Given the description of an element on the screen output the (x, y) to click on. 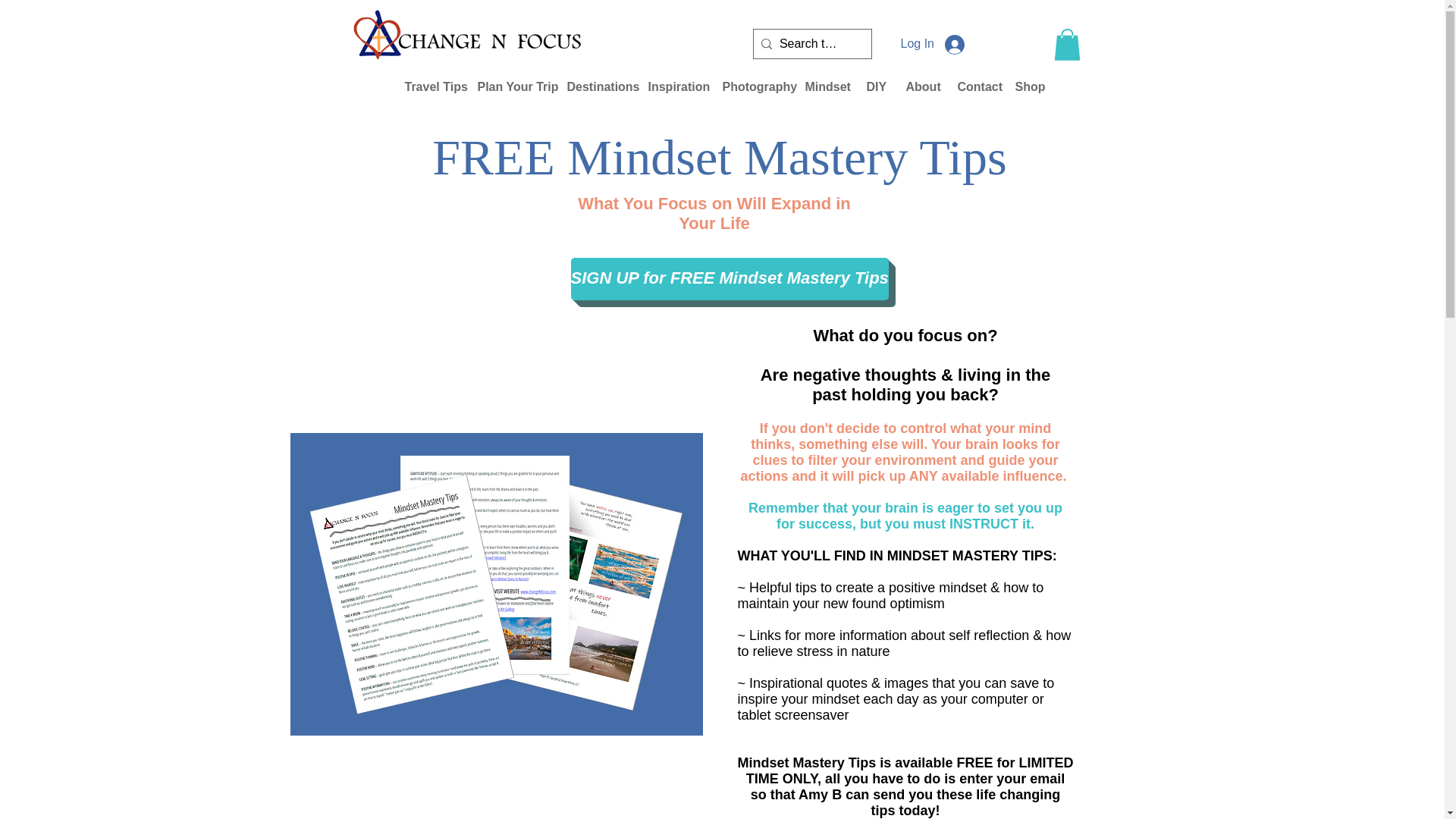
Plan Your Trip (509, 86)
Mindset (823, 86)
Photography (752, 86)
SIGN UP for FREE Mindset Mastery Tips (729, 278)
Inspiration (674, 86)
Shop (1026, 86)
Contact (975, 86)
Destinations (595, 86)
About (920, 86)
Travel Tips (429, 86)
